Given the description of an element on the screen output the (x, y) to click on. 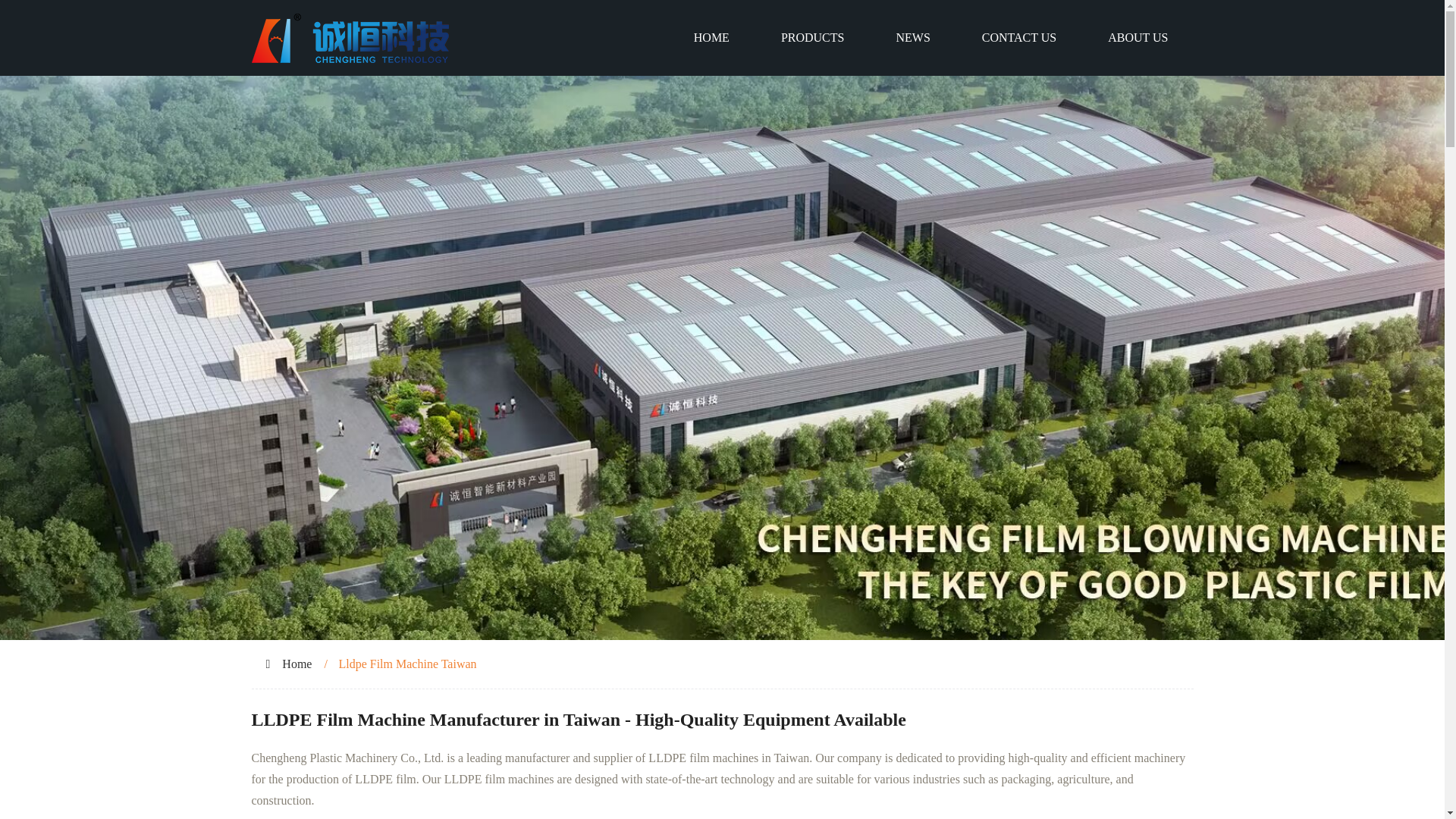
PRODUCTS (812, 38)
Home (296, 663)
CONTACT US (1018, 38)
